Given the description of an element on the screen output the (x, y) to click on. 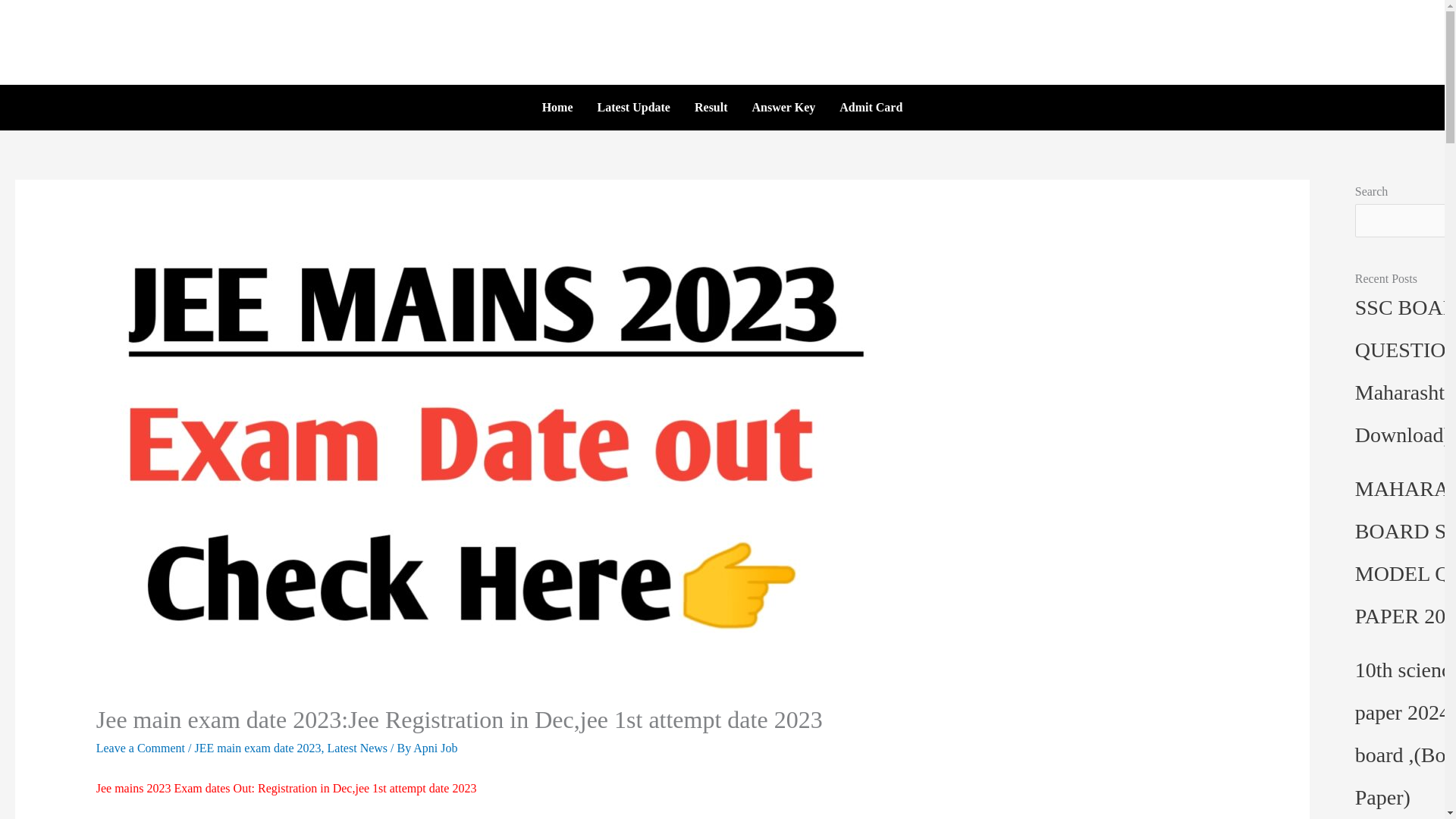
APNI JOB (722, 35)
Answer Key (783, 107)
Latest News (357, 748)
Leave a Comment (140, 748)
Latest Update (633, 107)
View all posts by Apni Job (435, 748)
Admit Card (870, 107)
Result (710, 107)
JEE main exam date 2023 (256, 748)
Home (557, 107)
Apni Job (435, 748)
